Given the description of an element on the screen output the (x, y) to click on. 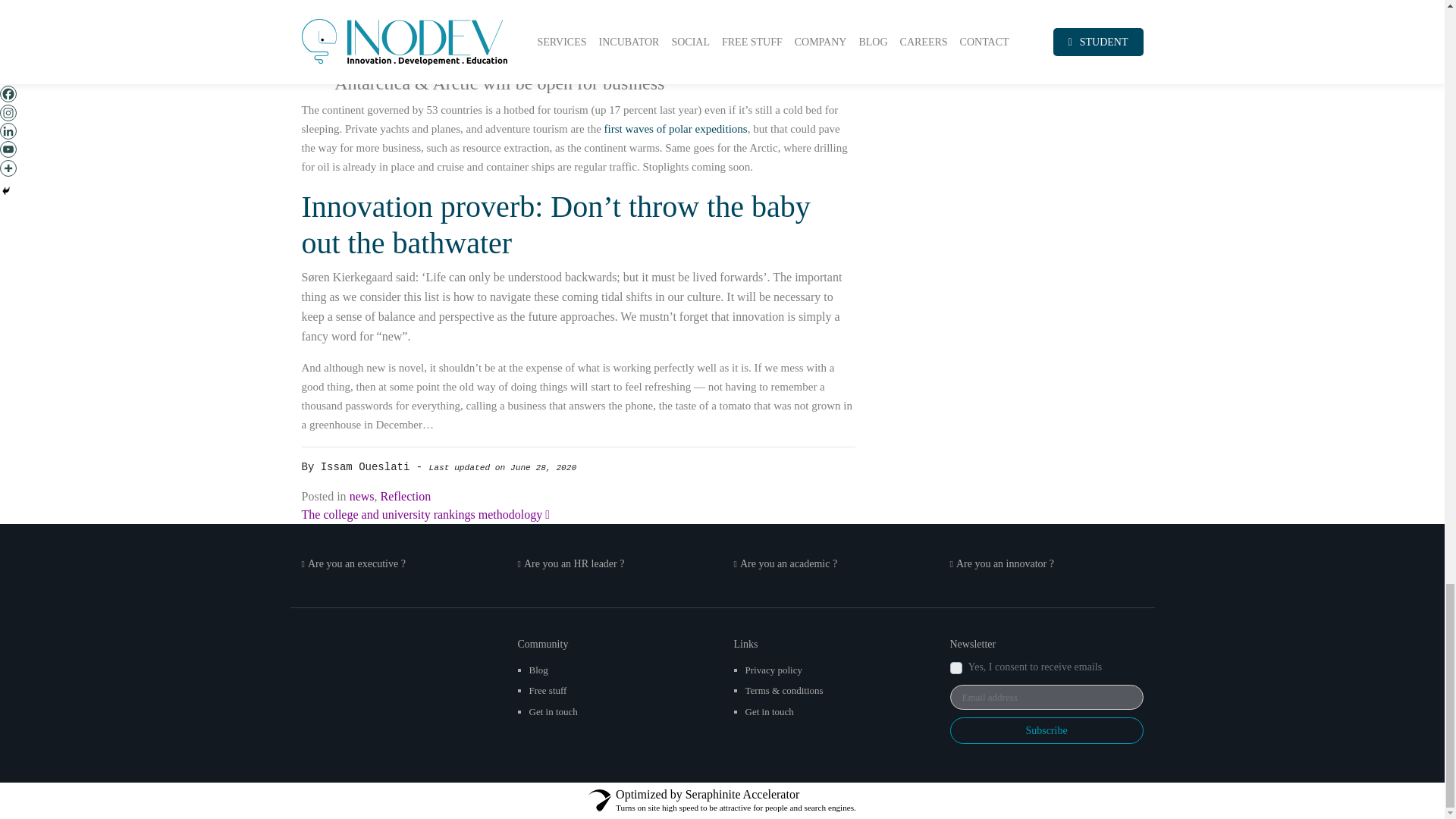
Subscribe (1045, 730)
